Given the description of an element on the screen output the (x, y) to click on. 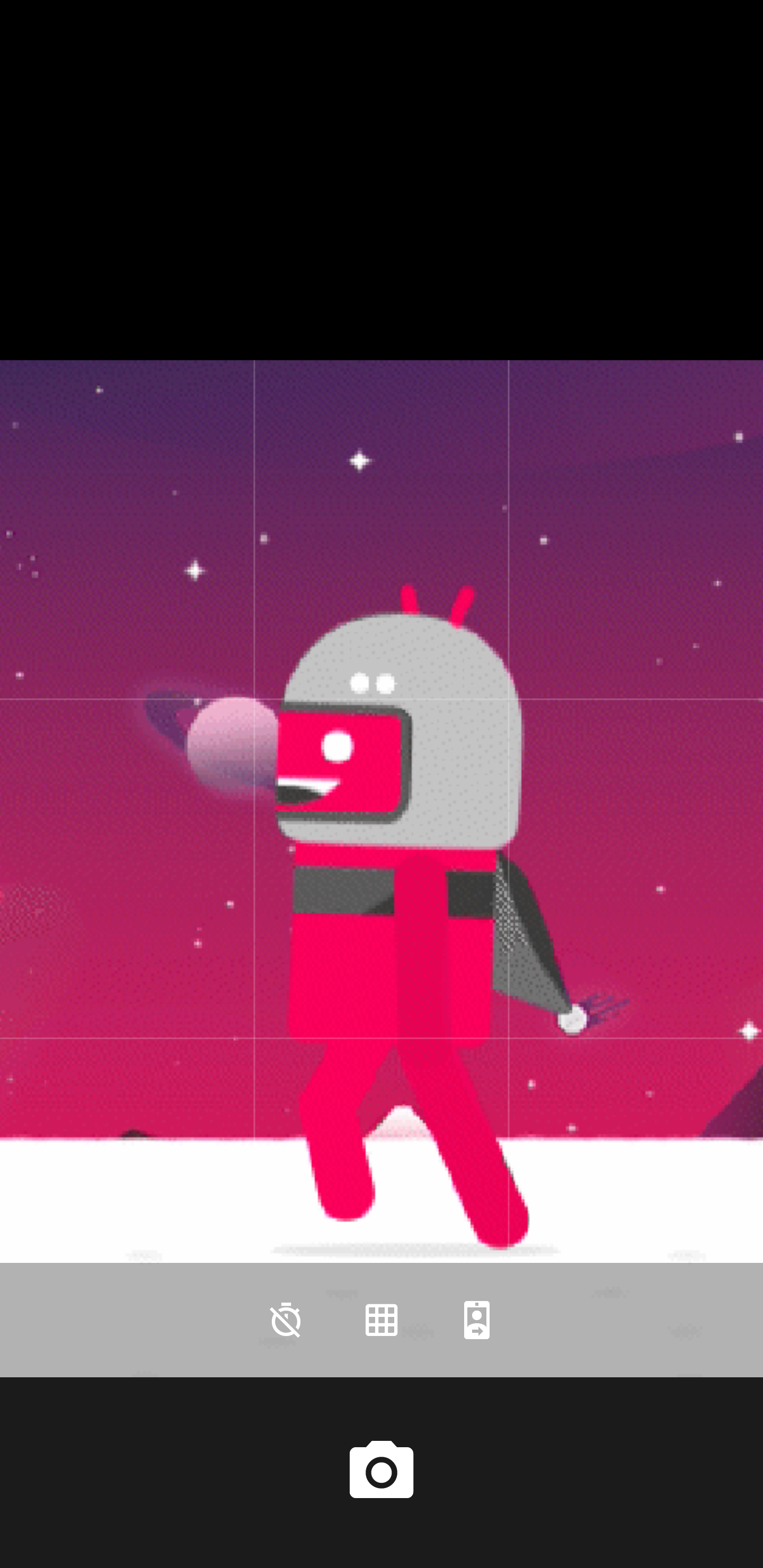
Countdown timer is off (285, 1319)
Grid lines on (381, 1319)
Front camera (476, 1319)
Shutter (381, 1472)
